Given the description of an element on the screen output the (x, y) to click on. 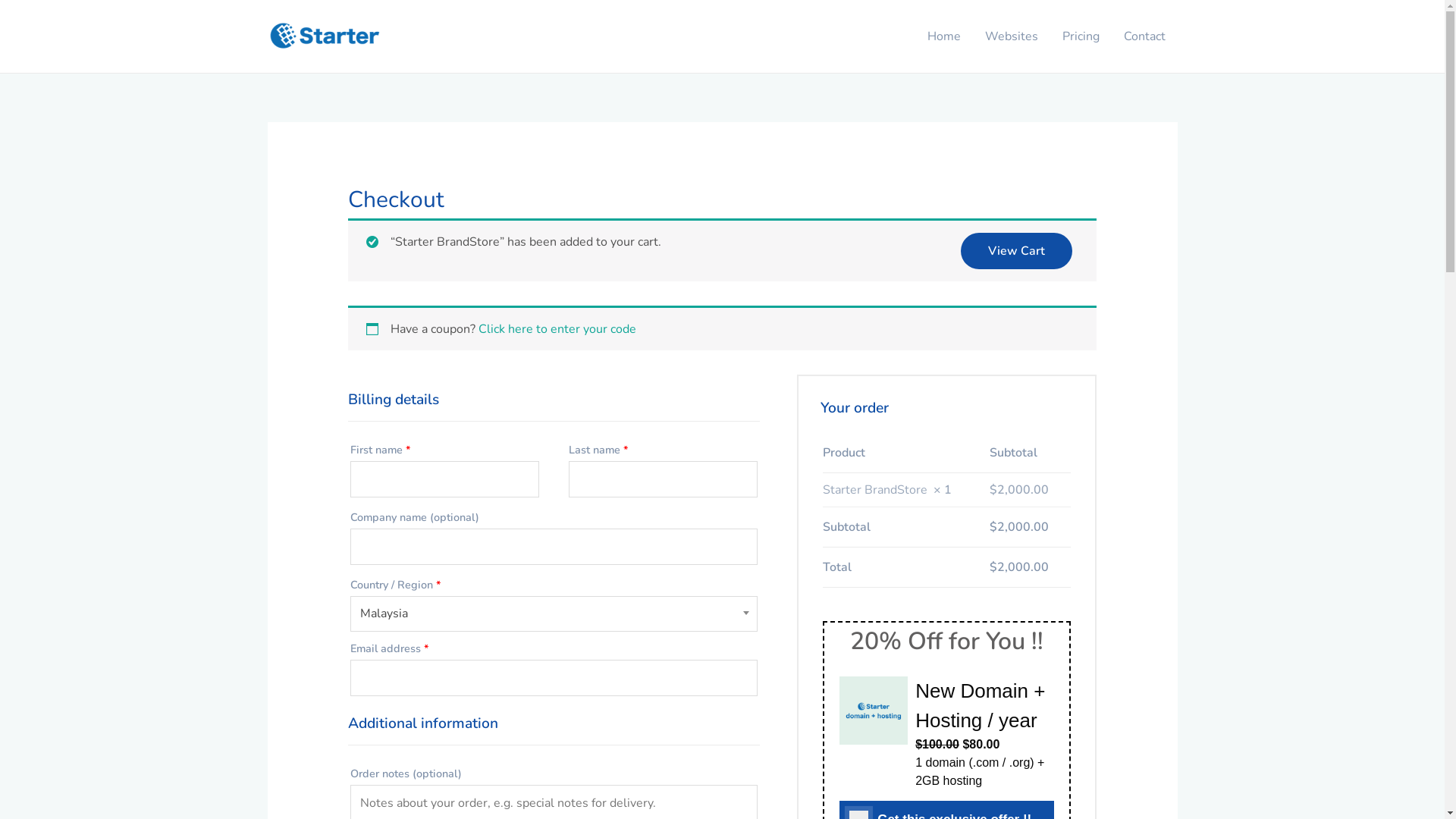
Pricing Element type: text (1079, 36)
View Cart Element type: text (1016, 250)
Contact Element type: text (1144, 36)
Home Element type: text (943, 36)
Websites Element type: text (1010, 36)
Click here to enter your code Element type: text (557, 328)
